Given the description of an element on the screen output the (x, y) to click on. 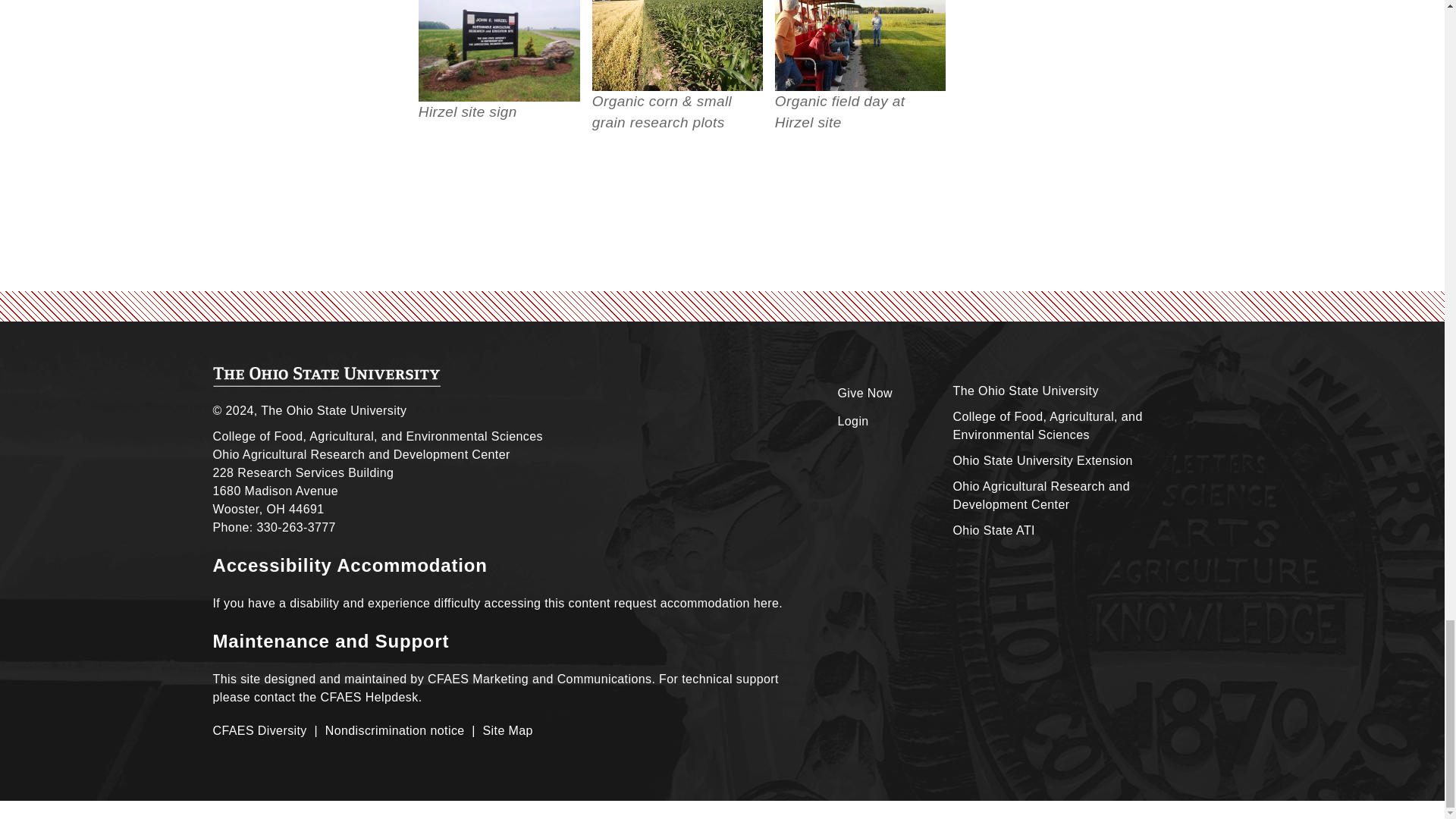
Hirzel site sign (499, 50)
Organic field day at Hirzel site (859, 45)
